Given the description of an element on the screen output the (x, y) to click on. 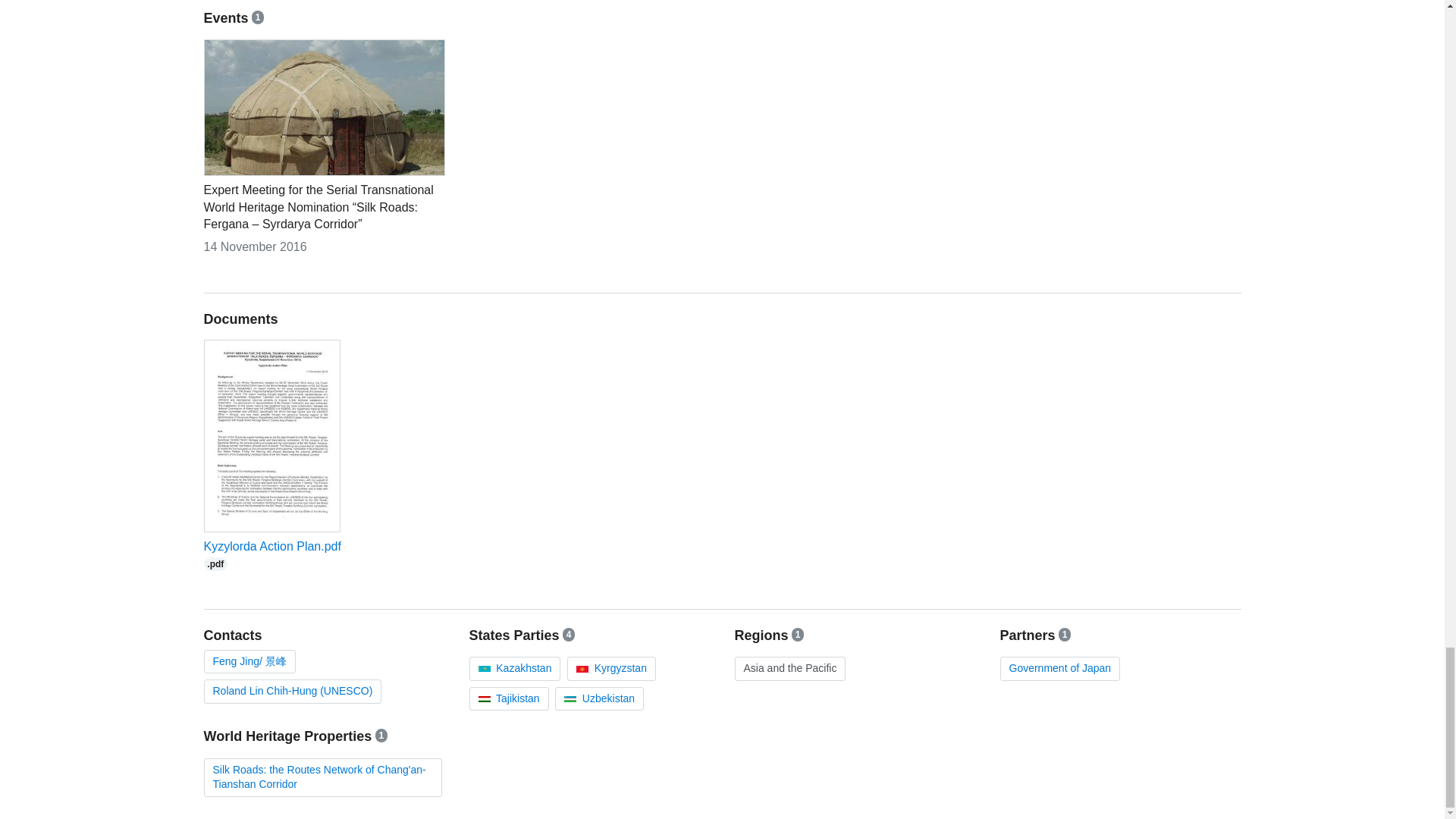
Government of Japan (271, 554)
  Uzbekistan (1059, 667)
  Kazakhstan (599, 698)
Kyzylorda Action Plan.pdf .pdf (514, 667)
Monday, 14 November 2016 (271, 554)
  Tajikistan (254, 246)
  Kyrgyzstan (507, 698)
